Given the description of an element on the screen output the (x, y) to click on. 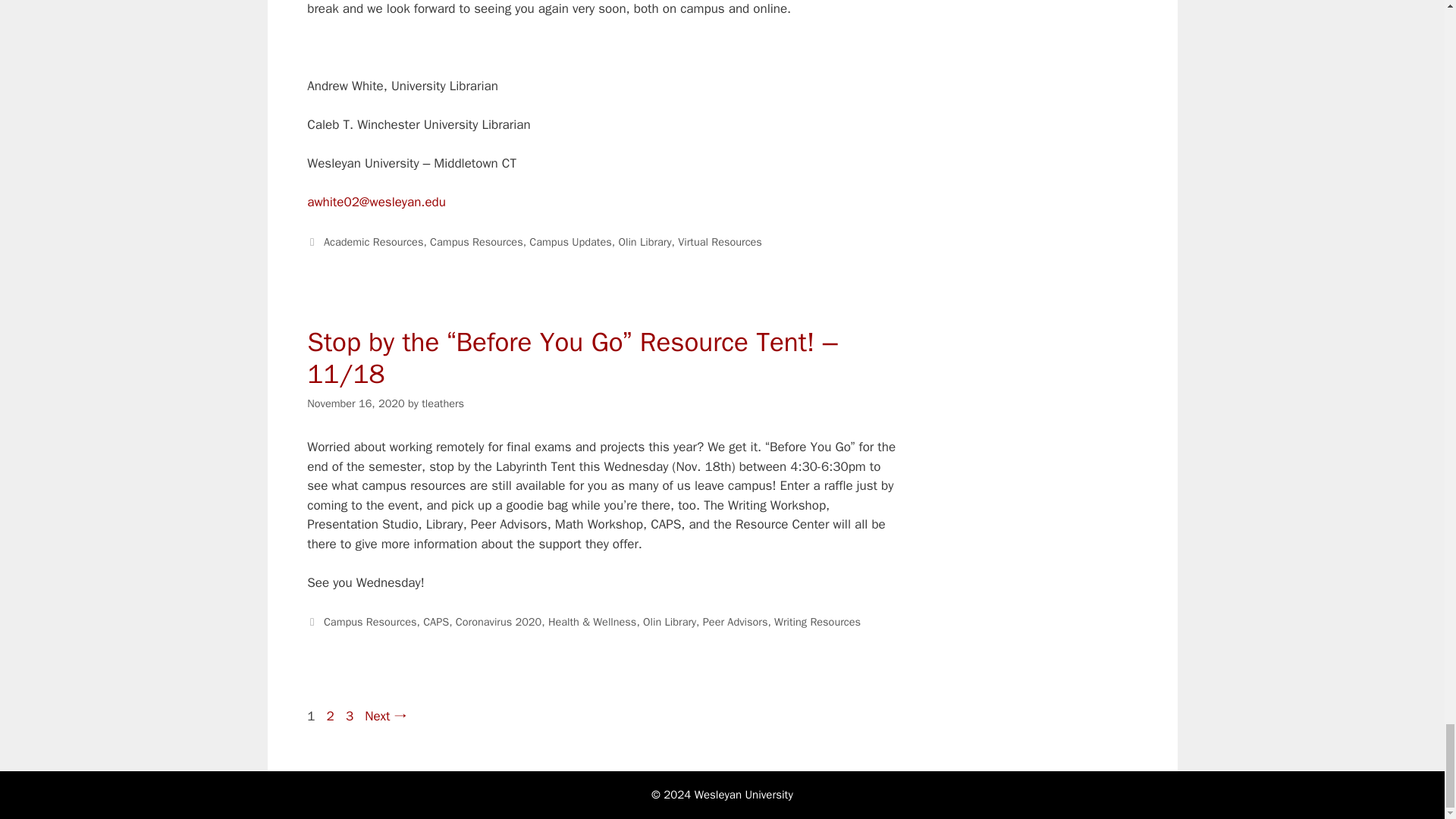
View all posts by tleathers (443, 403)
